Given the description of an element on the screen output the (x, y) to click on. 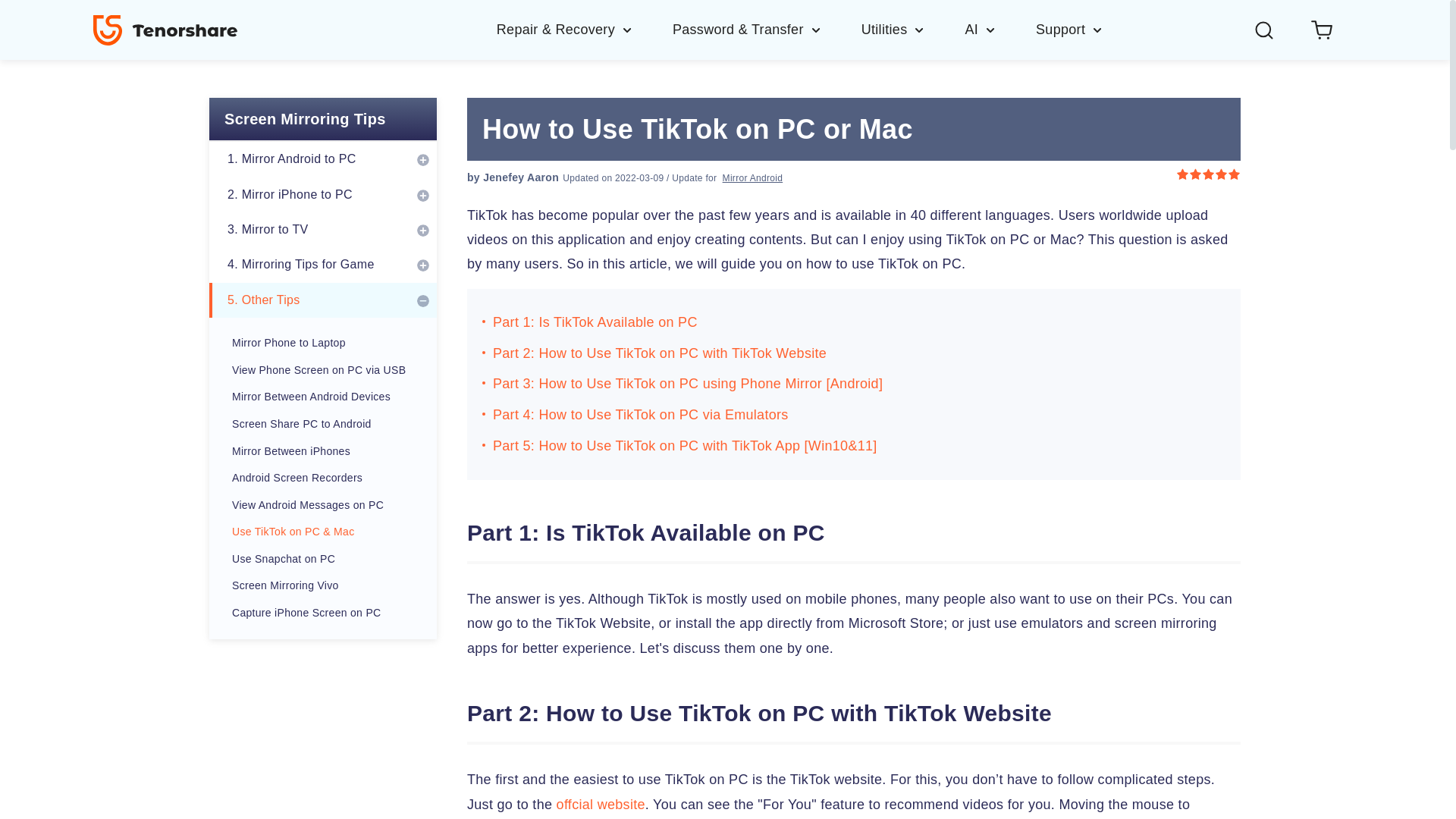
Support (1069, 29)
Utilities (913, 29)
AI (999, 29)
